Given the description of an element on the screen output the (x, y) to click on. 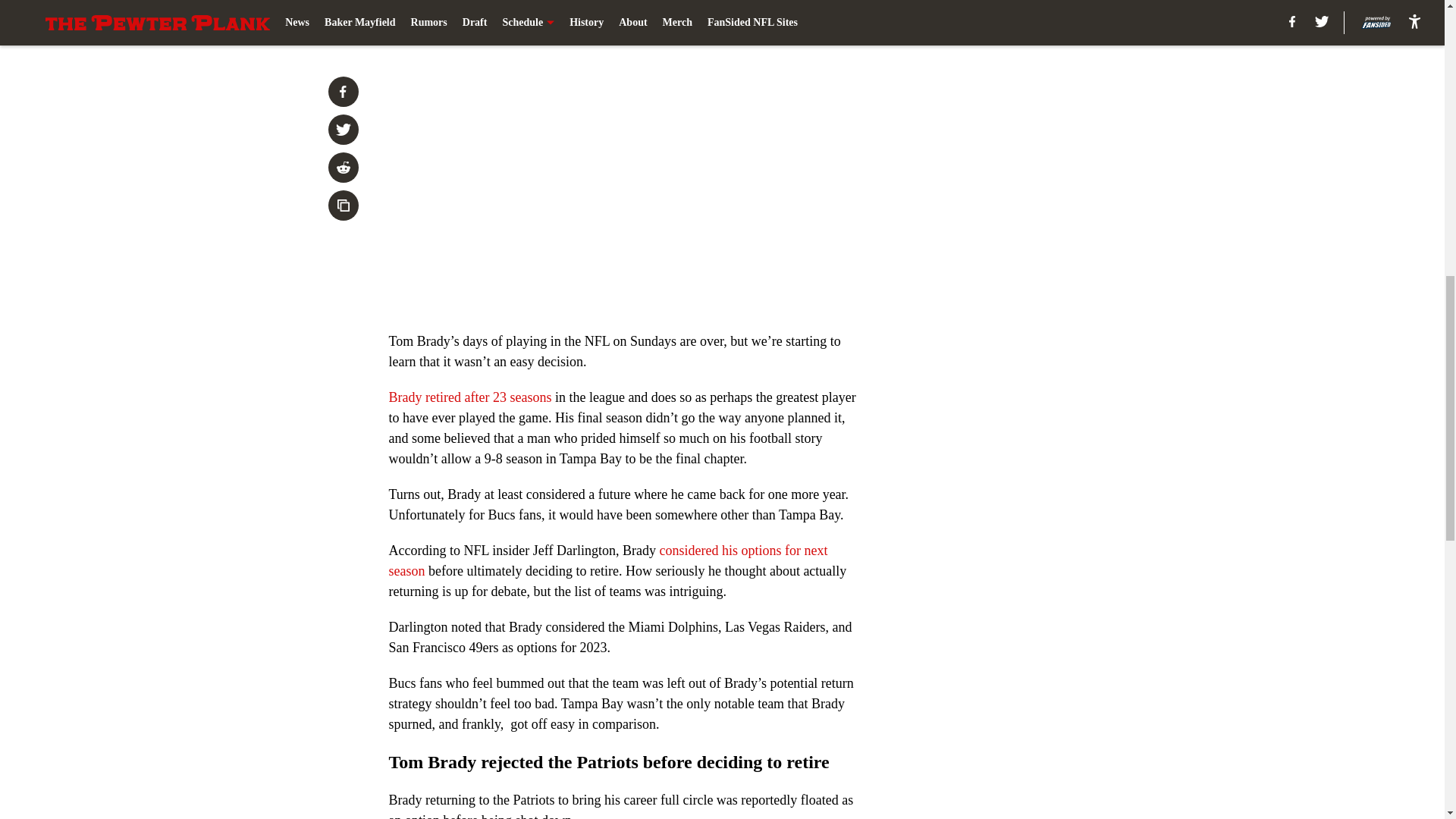
considered his options for next season (607, 560)
Brady retired after 23 seasons (469, 396)
